Given the description of an element on the screen output the (x, y) to click on. 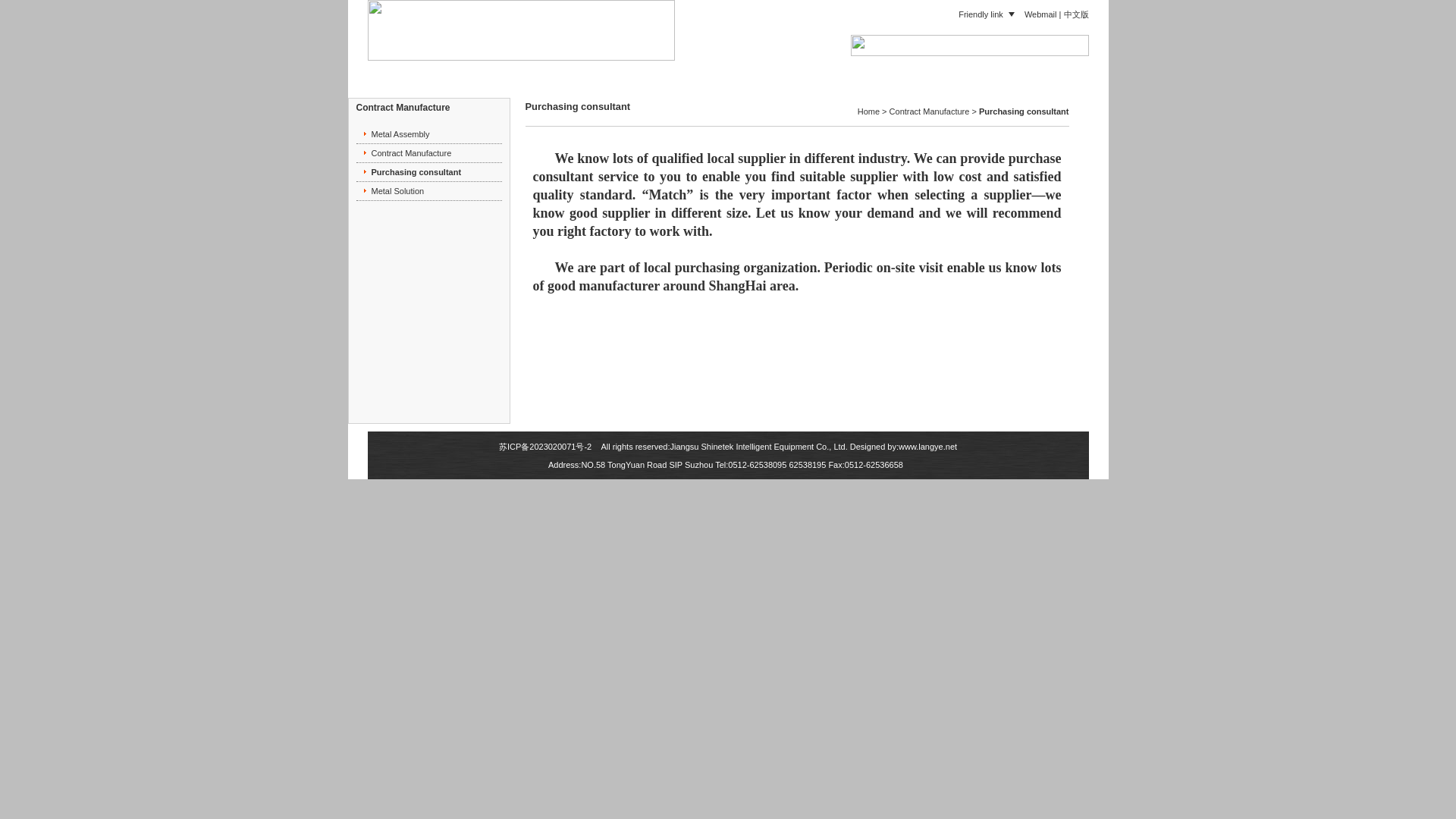
Metal Solution (398, 190)
Metal Assembly (400, 133)
Purchasing consultant (416, 171)
Capabilities (771, 69)
Product list (676, 69)
Webmail (1041, 13)
Contract Manufacture (891, 69)
Contact us (1009, 69)
Contract Manufacture (411, 153)
Home (510, 69)
About us (587, 69)
Home (868, 111)
